Given the description of an element on the screen output the (x, y) to click on. 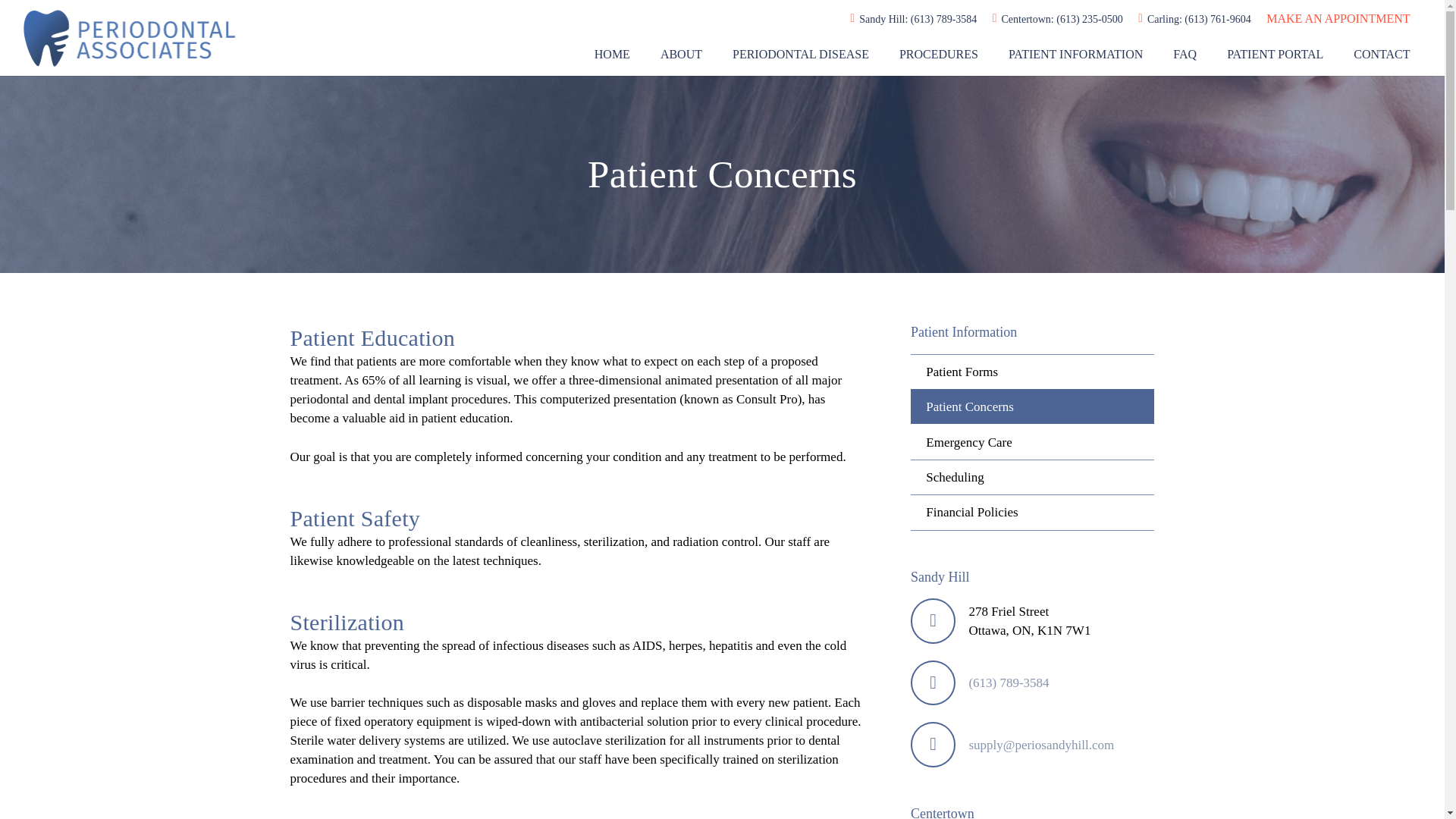
PERIODONTAL DISEASE (800, 54)
CONTACT (1381, 54)
ABOUT (681, 54)
PATIENT PORTAL (1274, 54)
PATIENT INFORMATION (1074, 54)
PROCEDURES (937, 54)
FAQ (1184, 54)
MAKE AN APPOINTMENT (1337, 18)
HOME (612, 54)
